Given the description of an element on the screen output the (x, y) to click on. 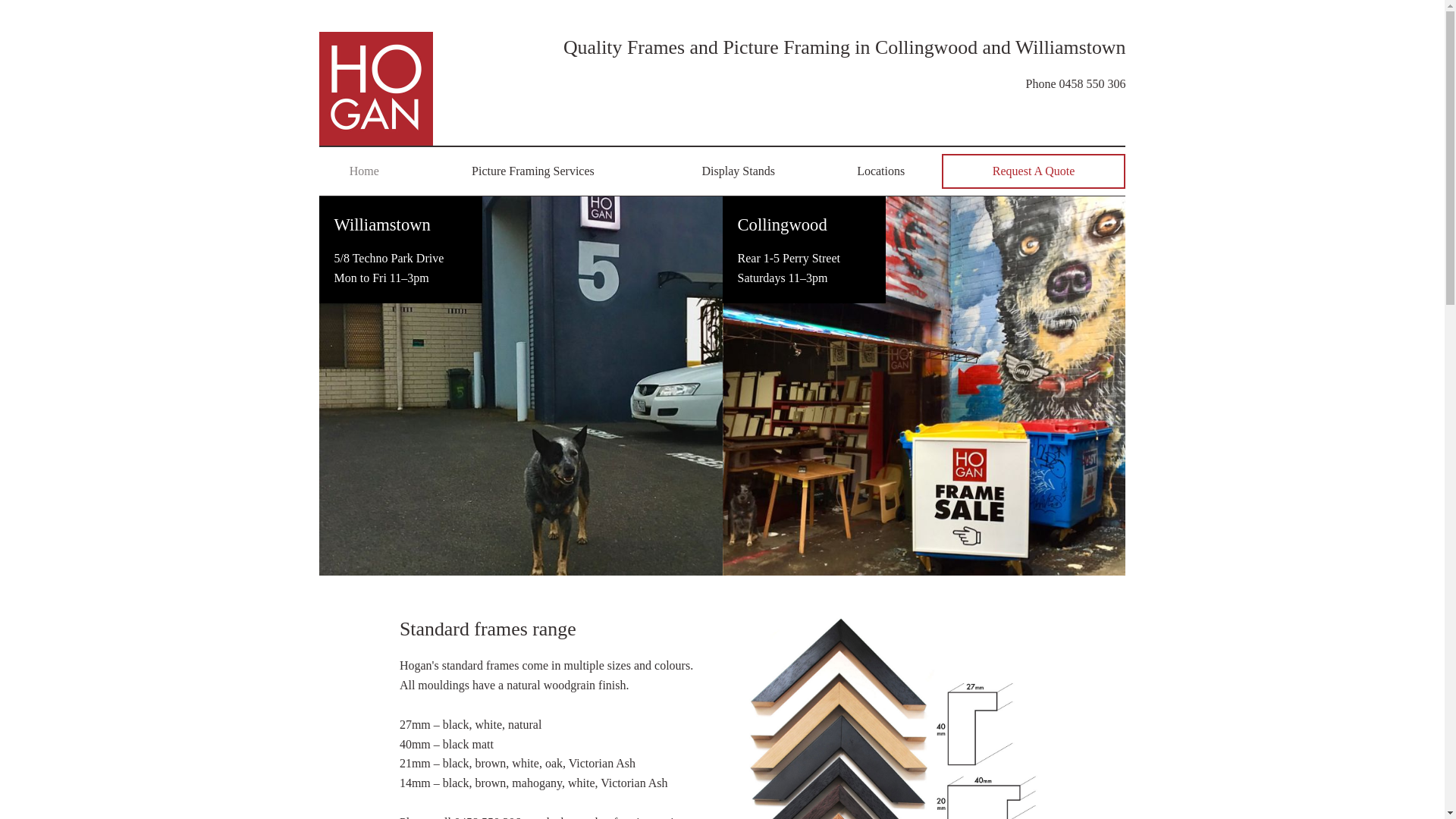
Locations Element type: text (880, 171)
Picture Framing Services Element type: text (532, 171)
Display Stands Element type: text (738, 171)
Request A Quote Element type: text (1033, 170)
Home Element type: text (364, 171)
